Given the description of an element on the screen output the (x, y) to click on. 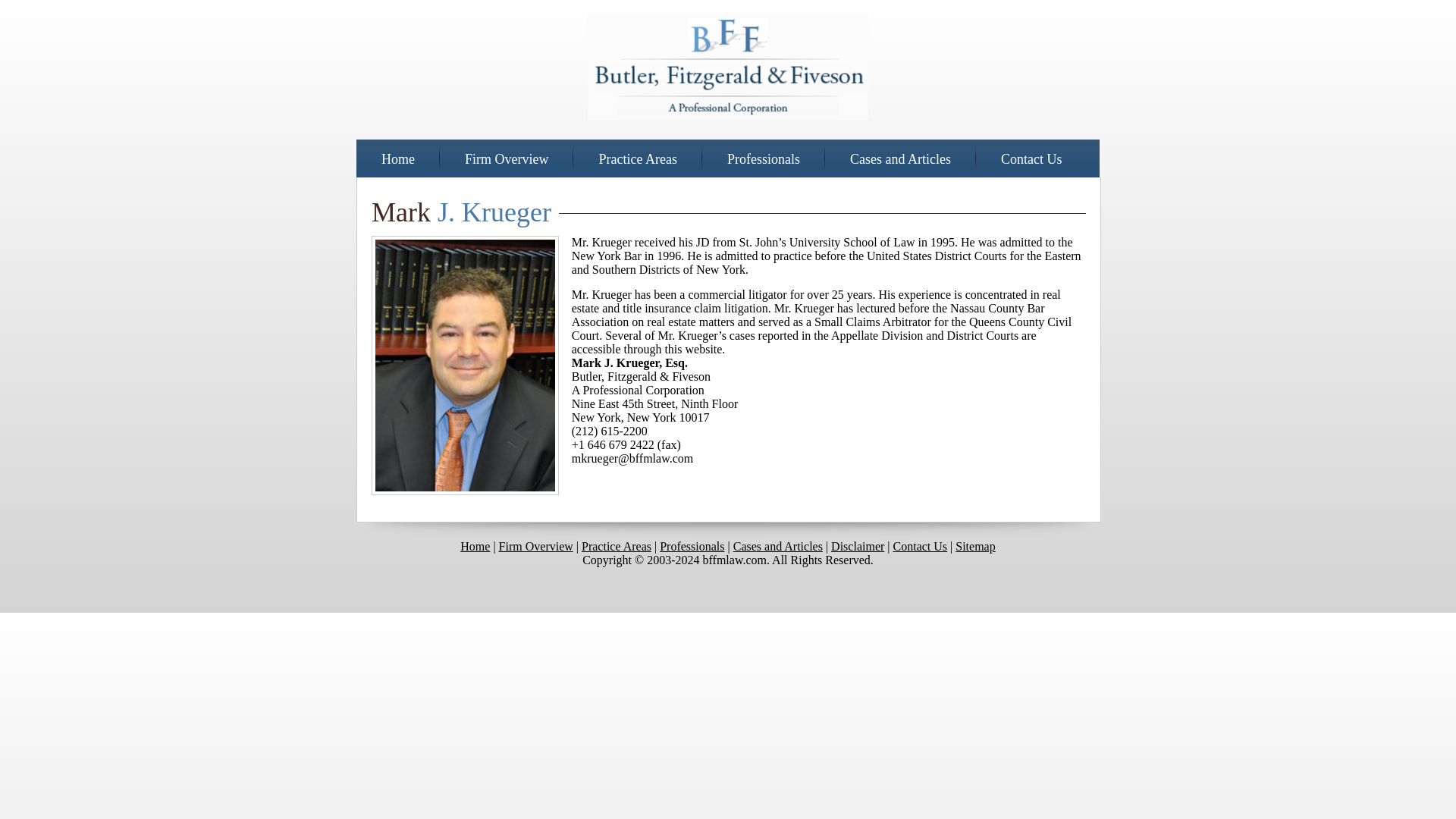
Cases and Articles (900, 159)
Home (474, 545)
Practice Areas (615, 545)
Firm Overview (506, 159)
Disclaimer (857, 545)
Cases and Articles (777, 545)
Sitemap (974, 545)
Professionals (691, 545)
Contact Us (1031, 159)
Practice Areas (637, 159)
Home (397, 159)
Contact Us (920, 545)
Firm Overview (536, 545)
Professionals (762, 159)
